Given the description of an element on the screen output the (x, y) to click on. 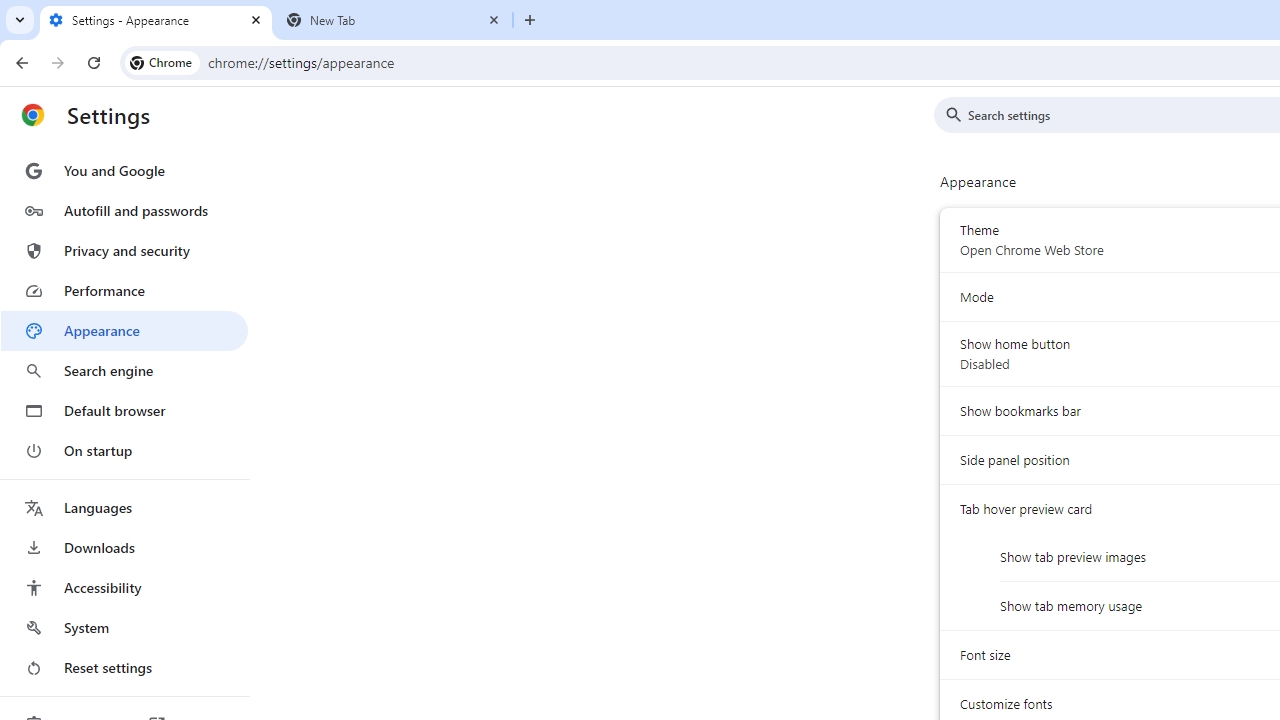
You and Google (124, 170)
Settings - Appearance (156, 20)
Autofill and passwords (124, 210)
Search engine (124, 370)
Languages (124, 507)
